Given the description of an element on the screen output the (x, y) to click on. 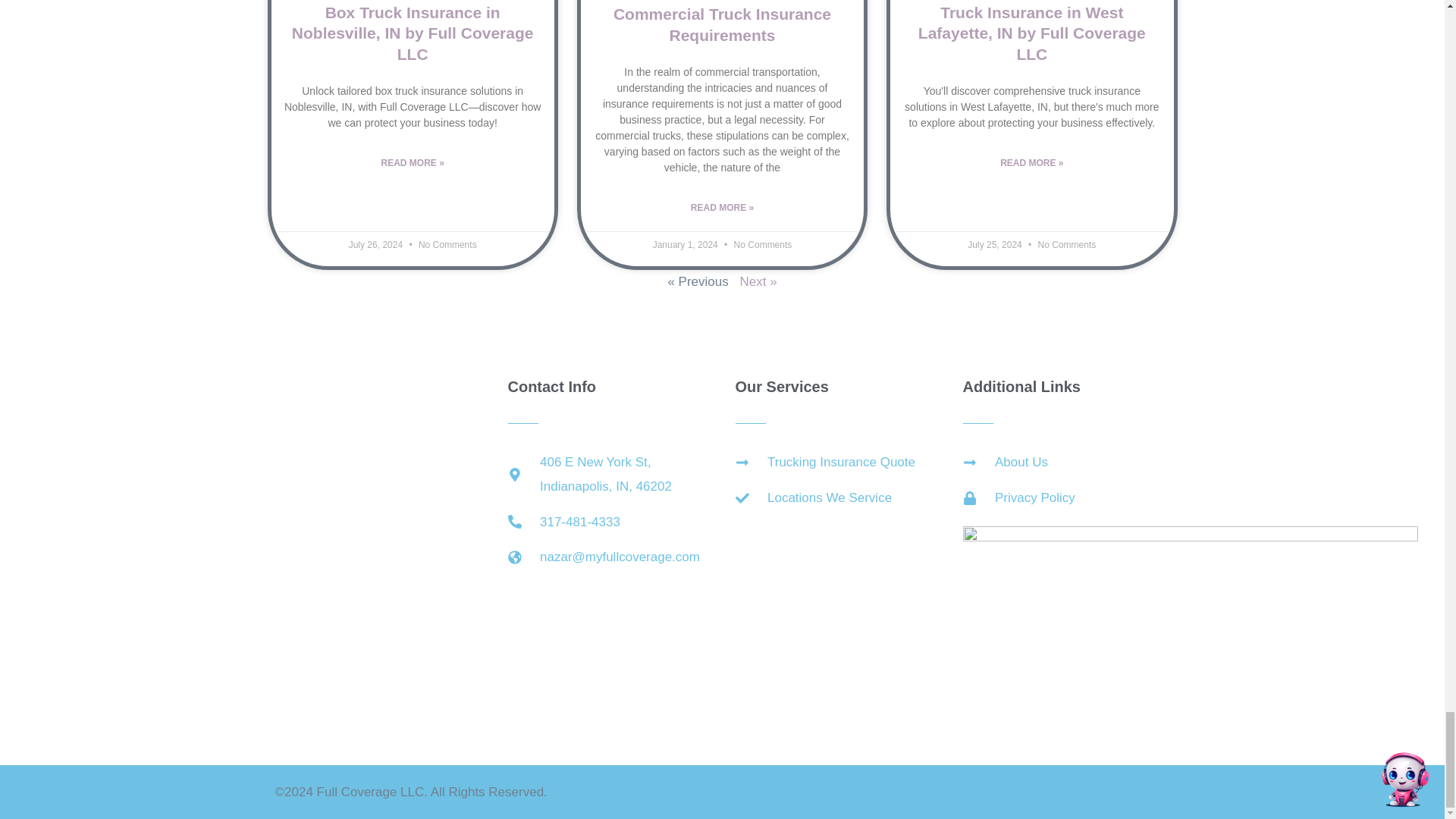
Commercial Truck Insurance Requirements (721, 23)
Box Truck Insurance in Noblesville, IN by Full Coverage LLC (413, 33)
Truck Insurance in West Lafayette, IN by Full Coverage LLC (1031, 33)
